Given the description of an element on the screen output the (x, y) to click on. 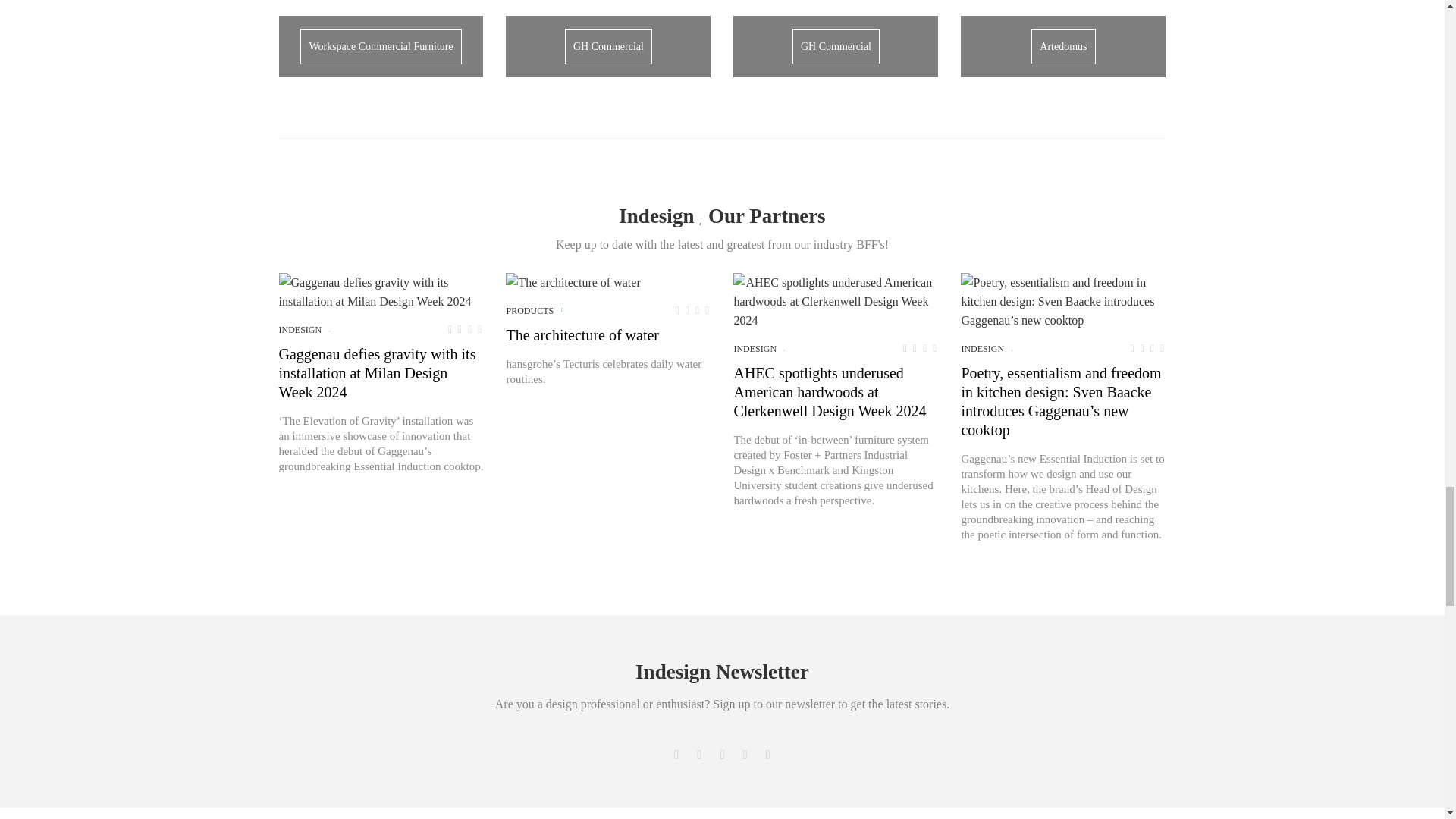
The architecture of water (572, 281)
